Given the description of an element on the screen output the (x, y) to click on. 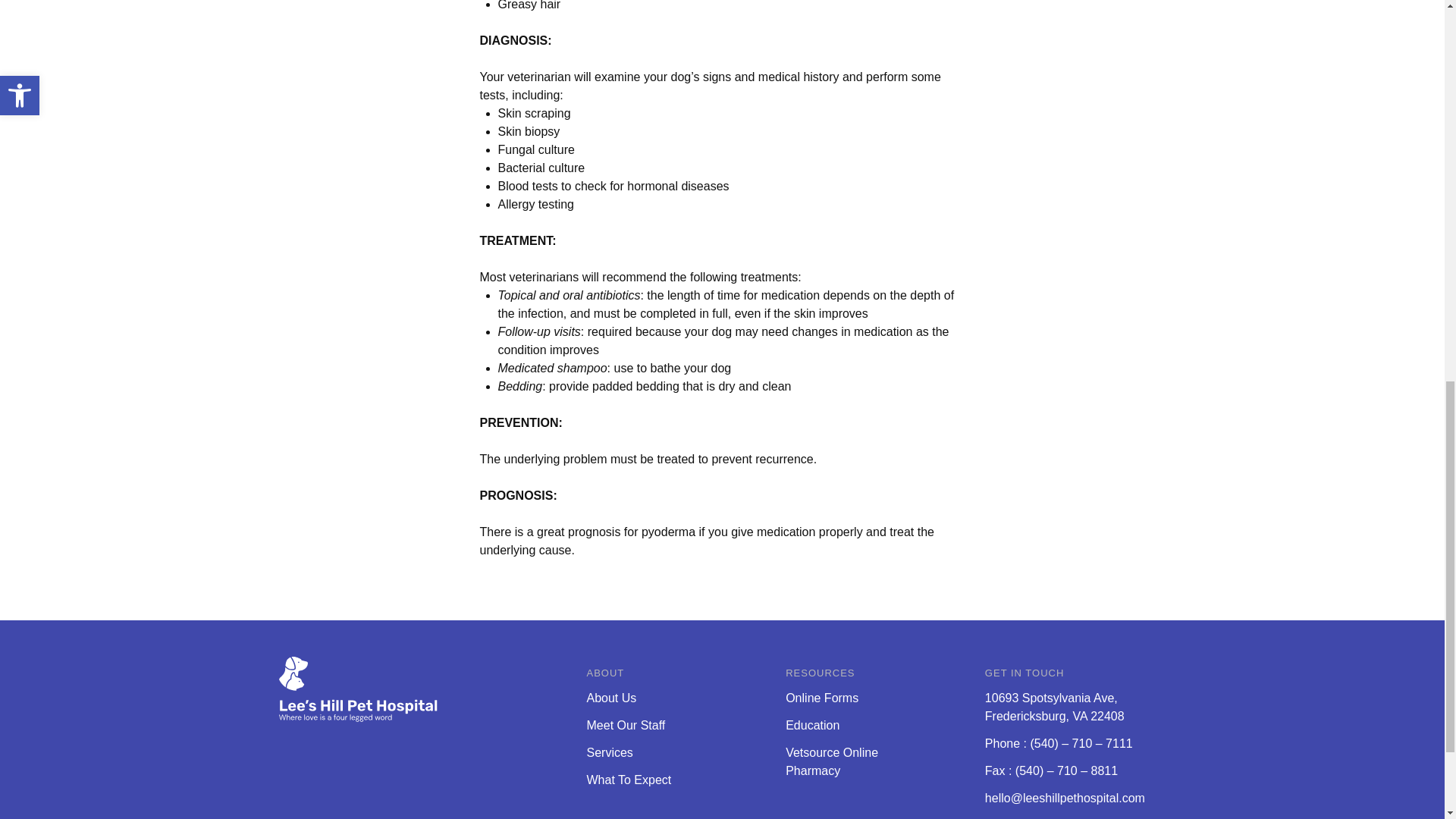
About Us (611, 697)
Meet Our Staff (831, 761)
What To Expect (625, 725)
Services (628, 779)
Online Forms (609, 752)
Education (822, 697)
